Given the description of an element on the screen output the (x, y) to click on. 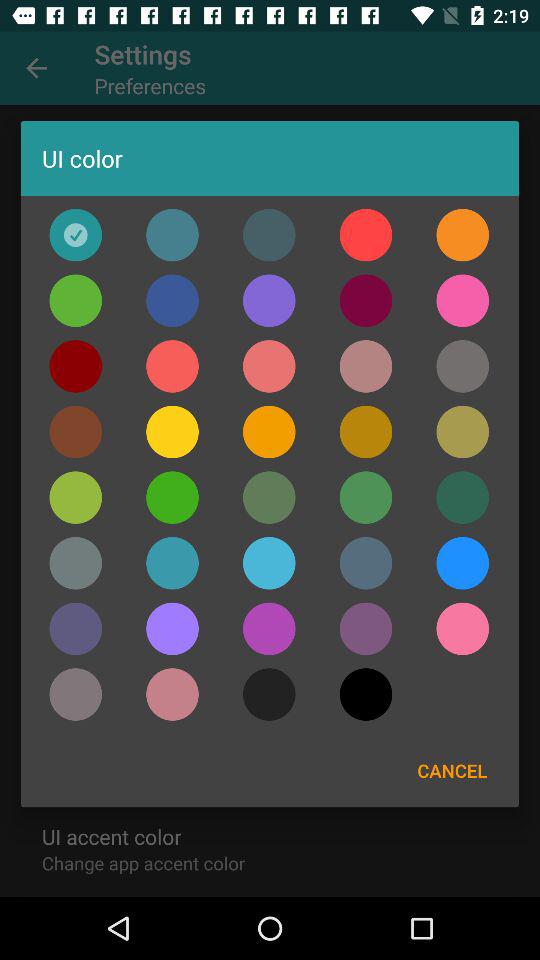
color selection (365, 234)
